Given the description of an element on the screen output the (x, y) to click on. 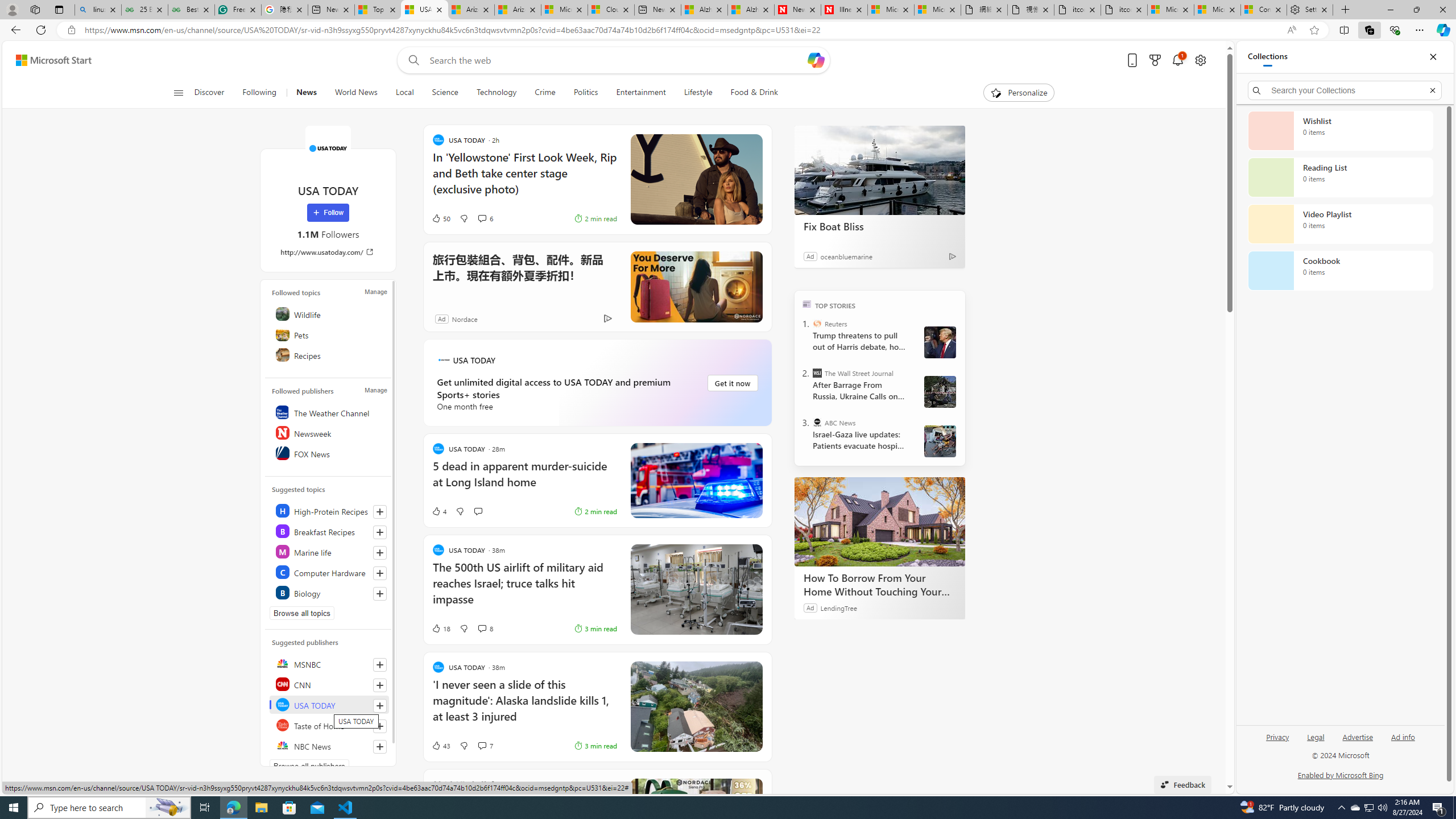
Newsweek (328, 432)
Illness news & latest pictures from Newsweek.com (844, 9)
